Given the description of an element on the screen output the (x, y) to click on. 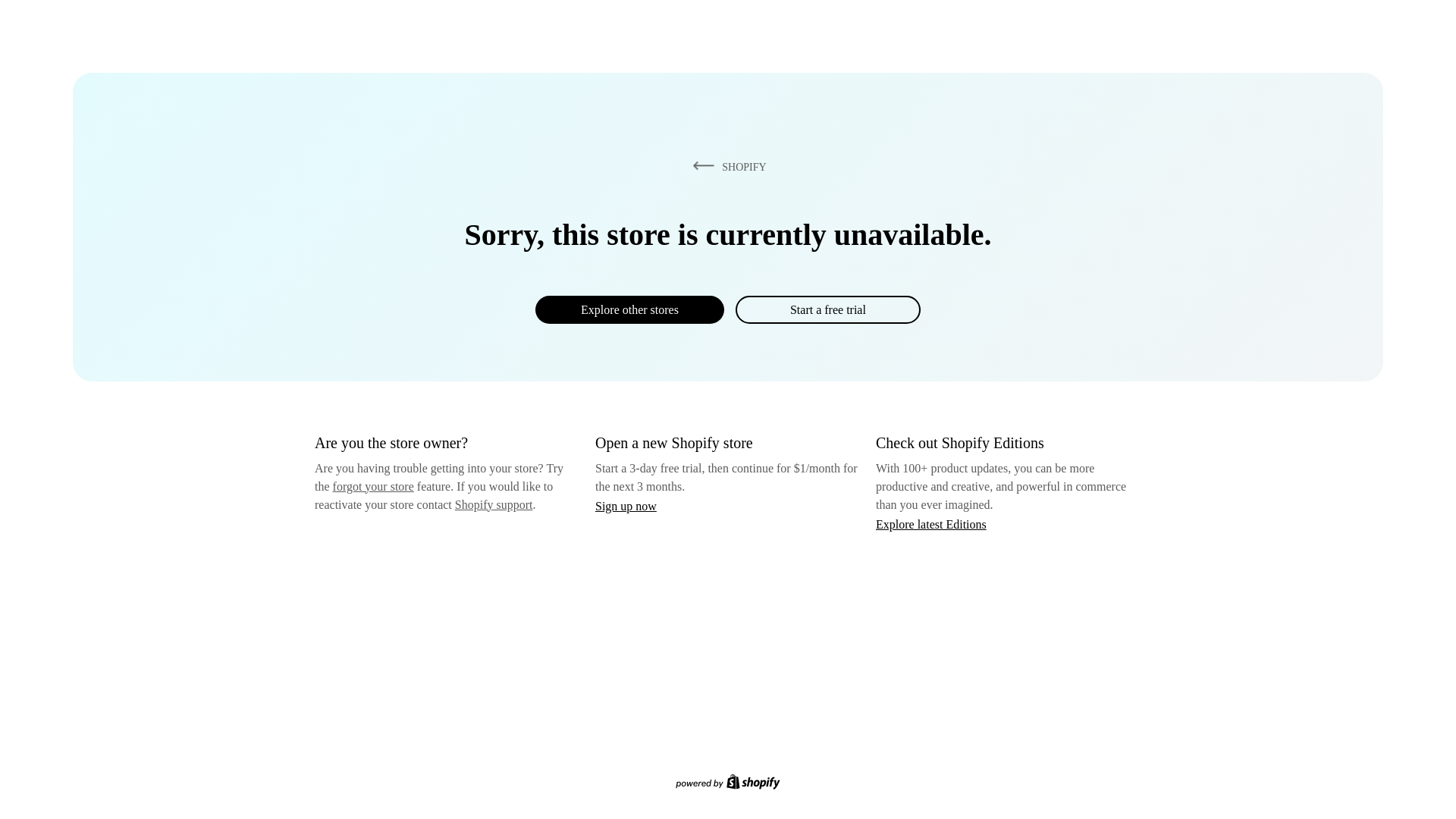
Sign up now (625, 505)
SHOPIFY (726, 166)
Explore latest Editions (931, 523)
Shopify support (493, 504)
Start a free trial (827, 309)
forgot your store (373, 486)
Explore other stores (629, 309)
